Given the description of an element on the screen output the (x, y) to click on. 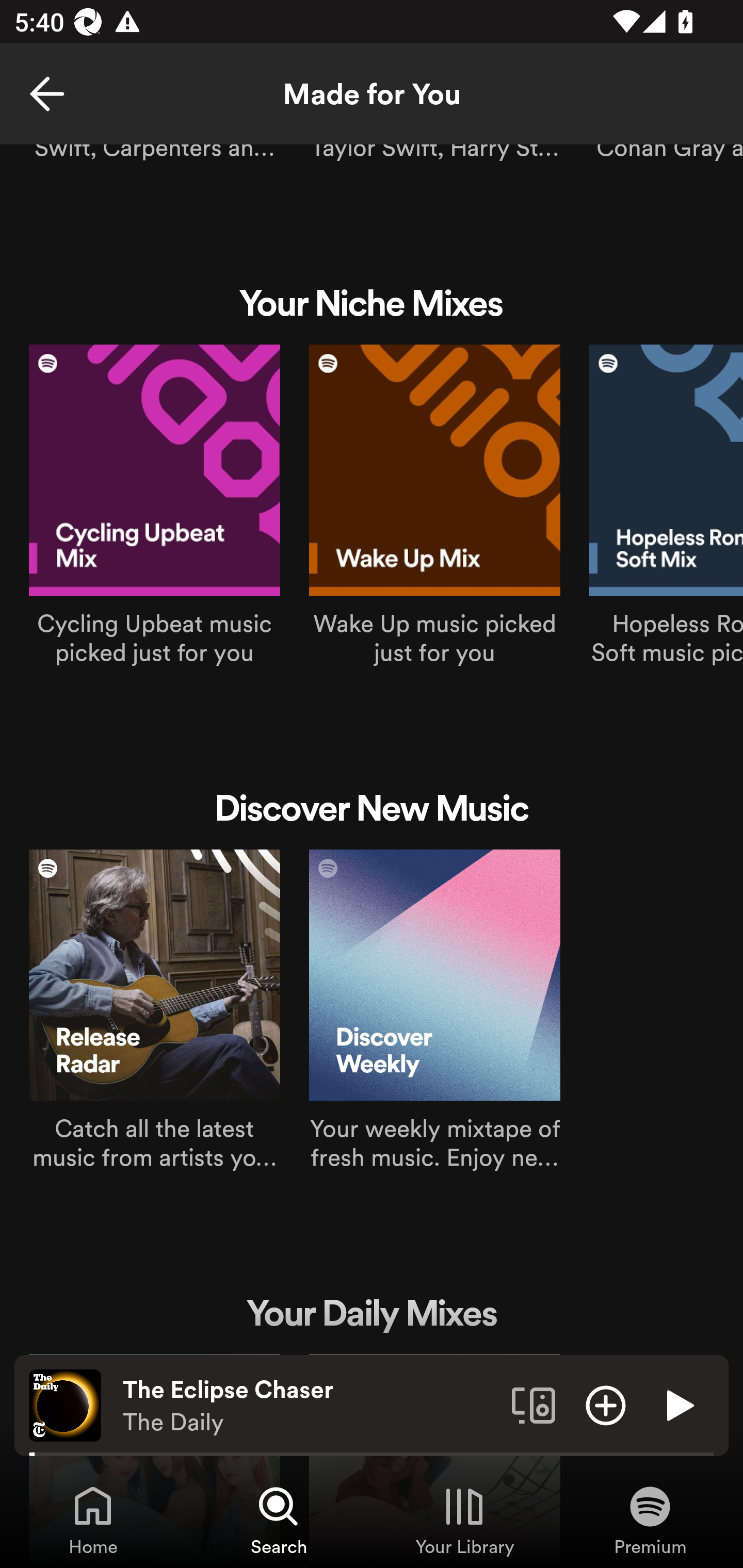
Back (46, 93)
The Eclipse Chaser The Daily (309, 1405)
The cover art of the currently playing track (64, 1404)
Connect to a device. Opens the devices menu (533, 1404)
Add item (605, 1404)
Play (677, 1404)
Home, Tab 1 of 4 Home Home (92, 1519)
Search, Tab 2 of 4 Search Search (278, 1519)
Your Library, Tab 3 of 4 Your Library Your Library (464, 1519)
Premium, Tab 4 of 4 Premium Premium (650, 1519)
